Given the description of an element on the screen output the (x, y) to click on. 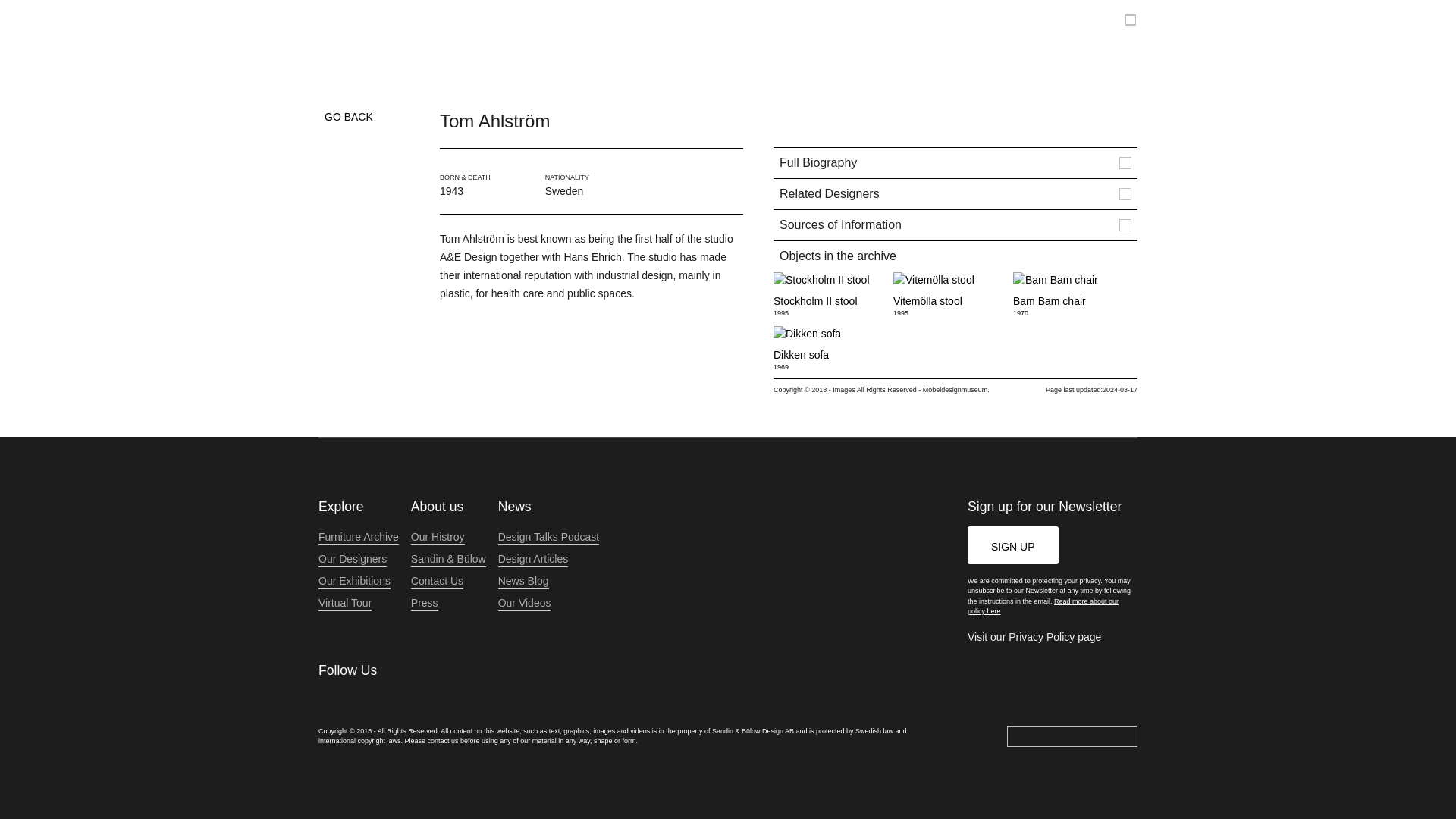
Contact Us (436, 580)
Furniture Archive (829, 295)
GO BACK (358, 537)
Our Histroy (829, 348)
MDM (345, 116)
Visit our Privacy Policy page (437, 537)
SIGN UP (1069, 295)
